Given the description of an element on the screen output the (x, y) to click on. 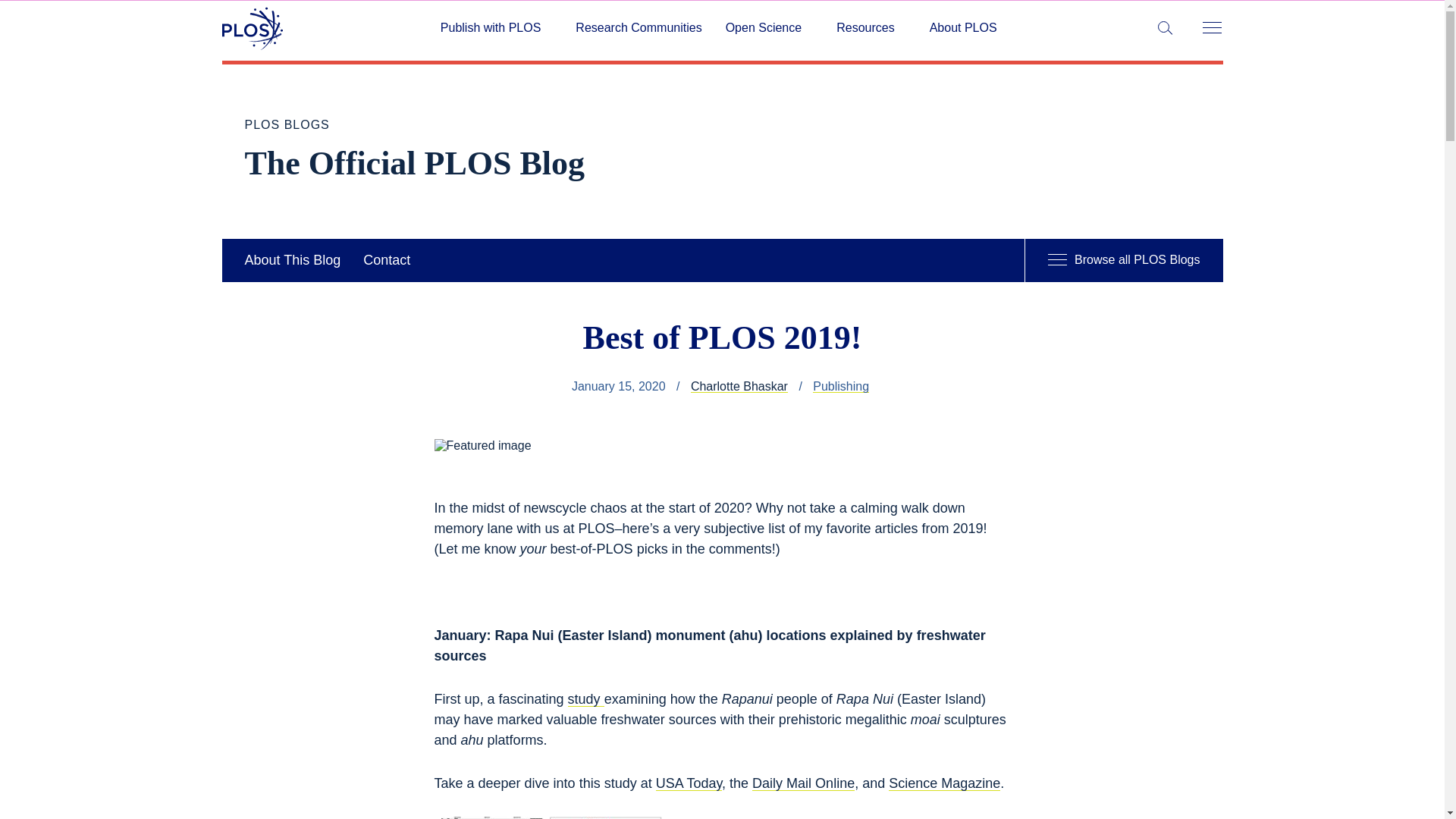
Open Science (769, 28)
About PLOS (962, 28)
Research Communities (638, 28)
Resources (870, 28)
Menu (1211, 28)
Search (15, 15)
Publish with PLOS (496, 28)
